Given the description of an element on the screen output the (x, y) to click on. 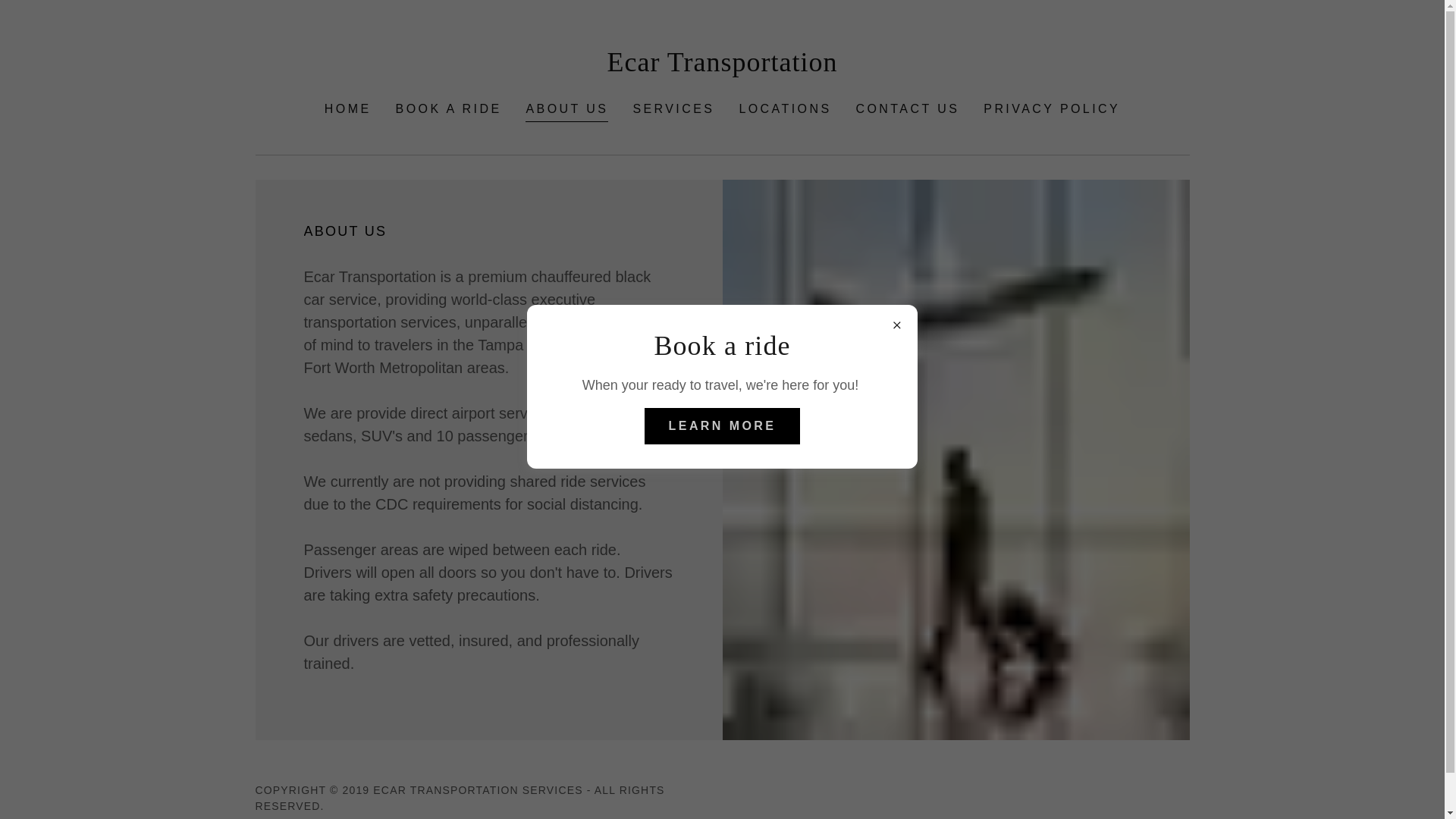
Ecar Transportation   (721, 66)
LOCATIONS (784, 108)
LEARN MORE (722, 425)
SERVICES (673, 108)
ABOUT US (566, 110)
PRIVACY POLICY (1051, 108)
BOOK A RIDE (448, 108)
Ecar Transportation (721, 66)
HOME (347, 108)
CONTACT US (907, 108)
